Given the description of an element on the screen output the (x, y) to click on. 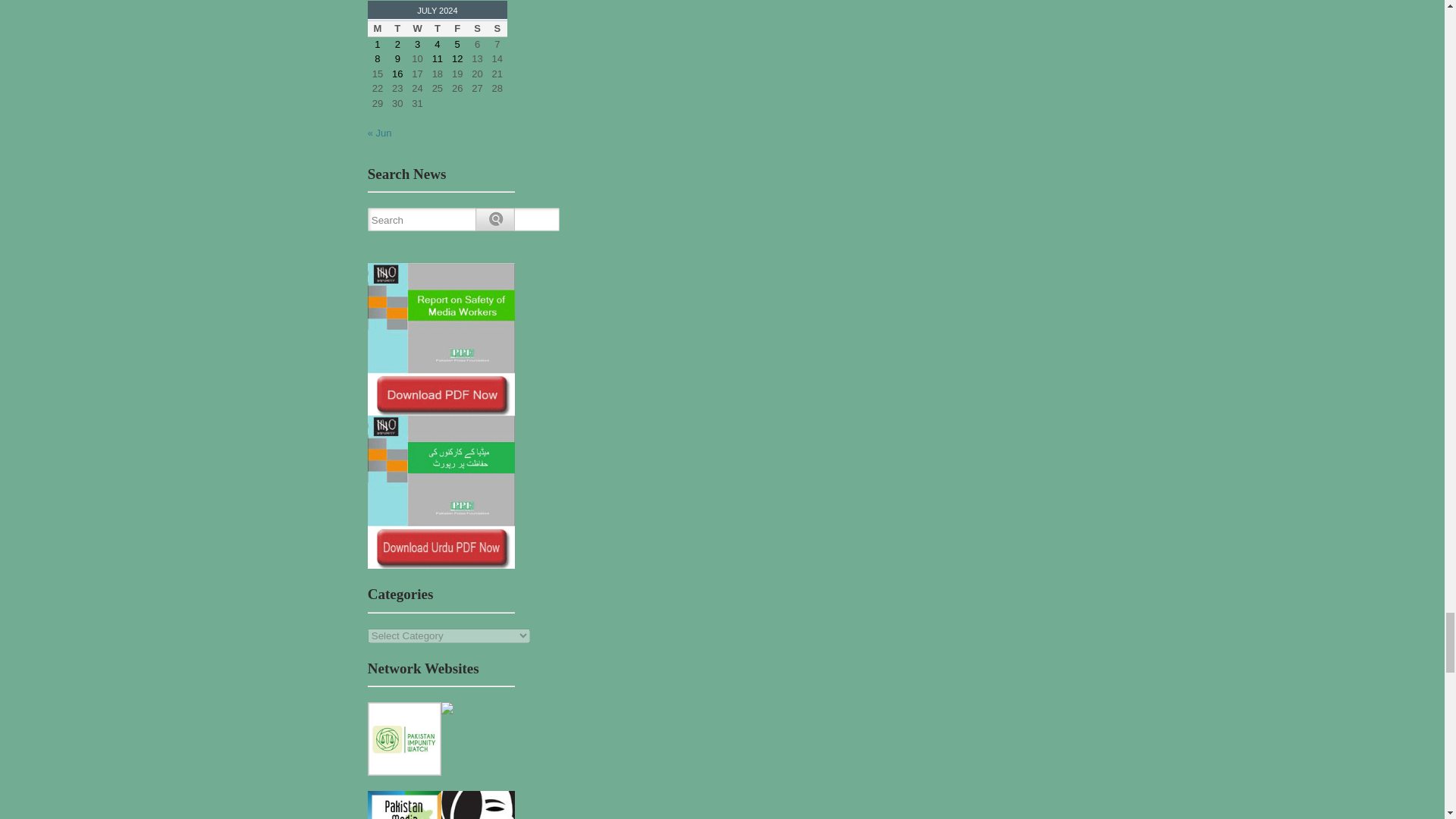
Search (466, 220)
Tuesday (397, 28)
Thursday (437, 28)
Sunday (496, 28)
Monday (377, 28)
Friday (456, 28)
Saturday (476, 28)
Wednesday (416, 28)
